Given the description of an element on the screen output the (x, y) to click on. 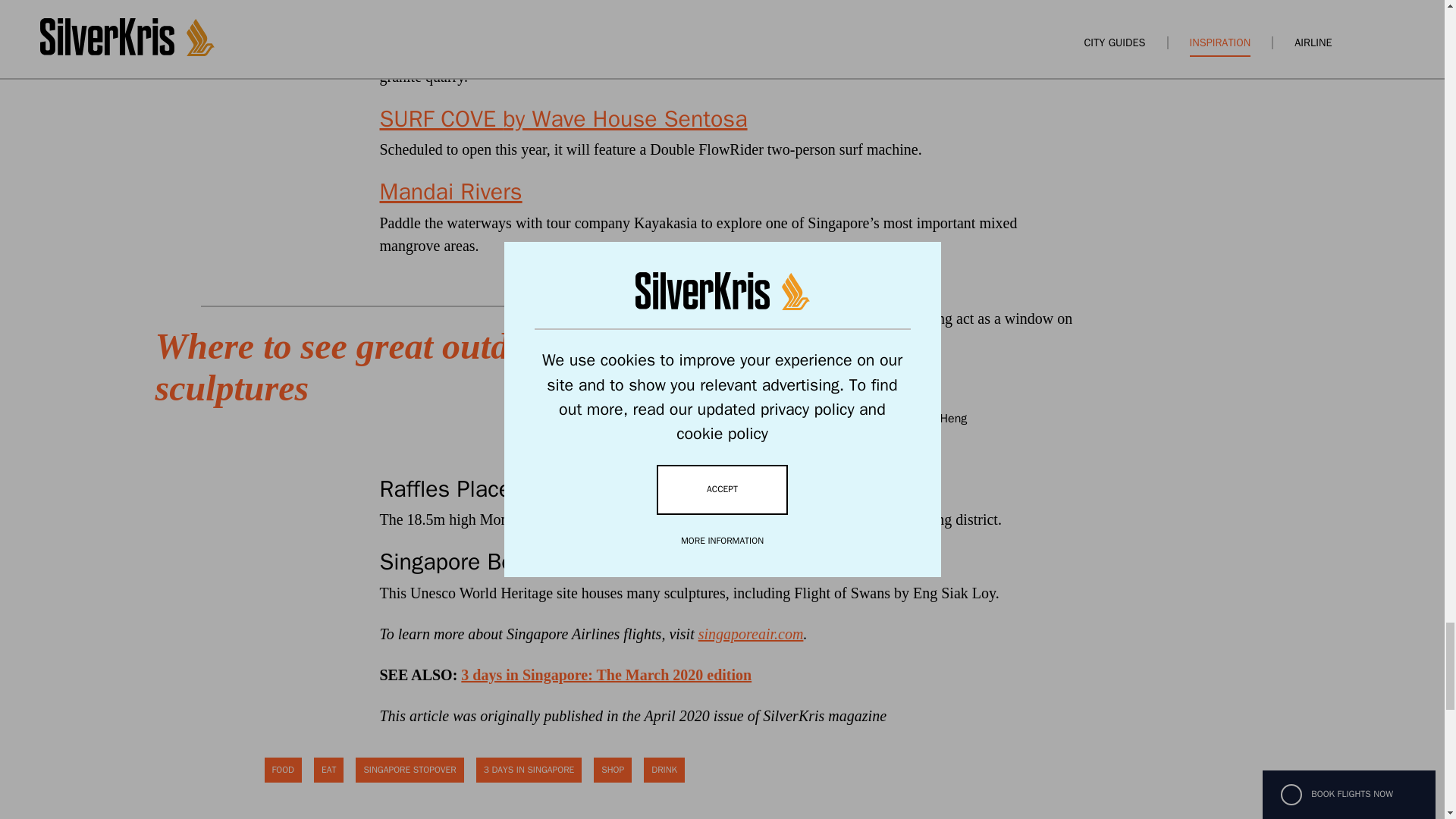
Ketam Mountain Bike Park (512, 22)
